Given the description of an element on the screen output the (x, y) to click on. 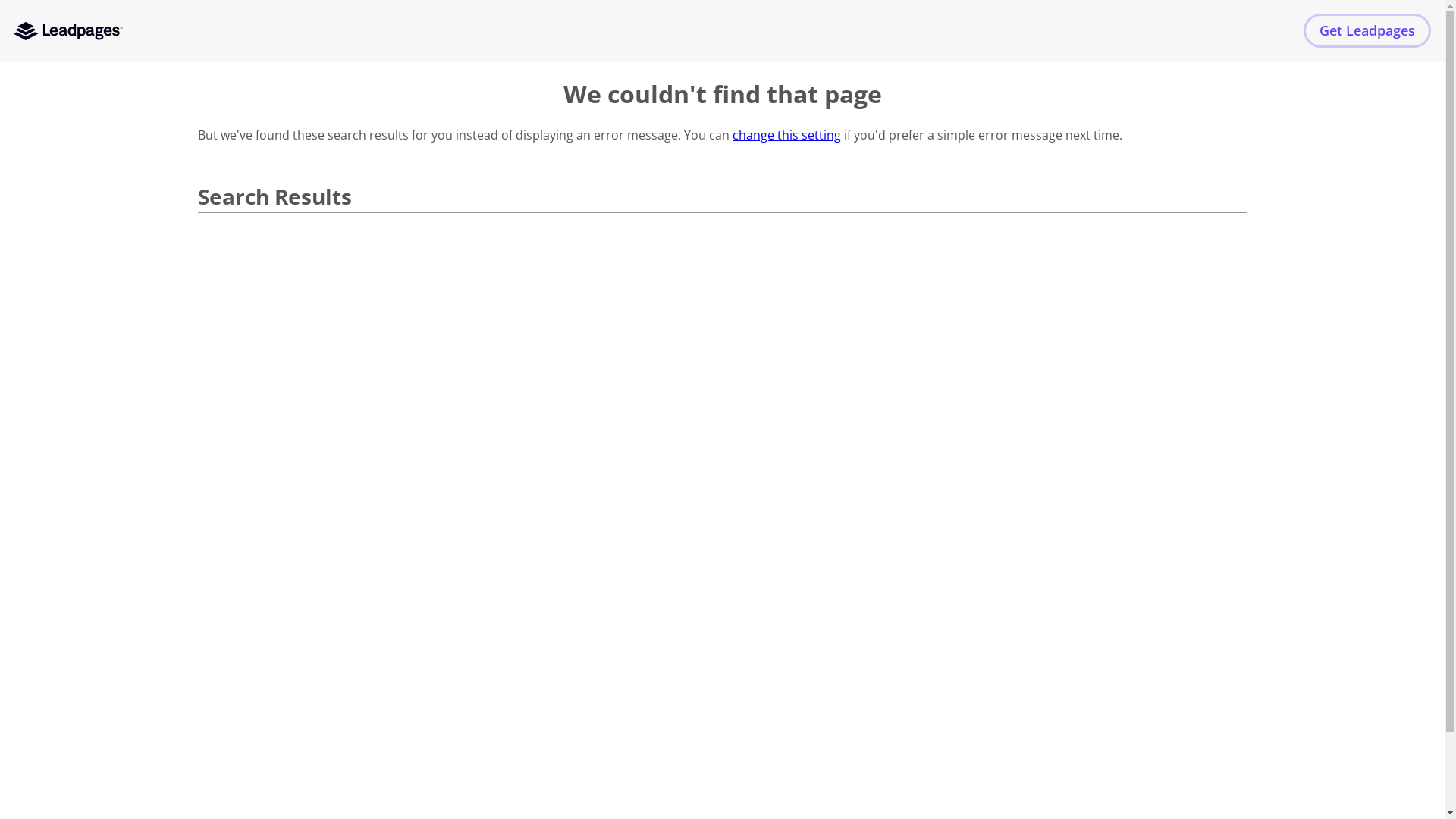
Get Leadpages Element type: text (1366, 30)
change this setting Element type: text (786, 134)
